Given the description of an element on the screen output the (x, y) to click on. 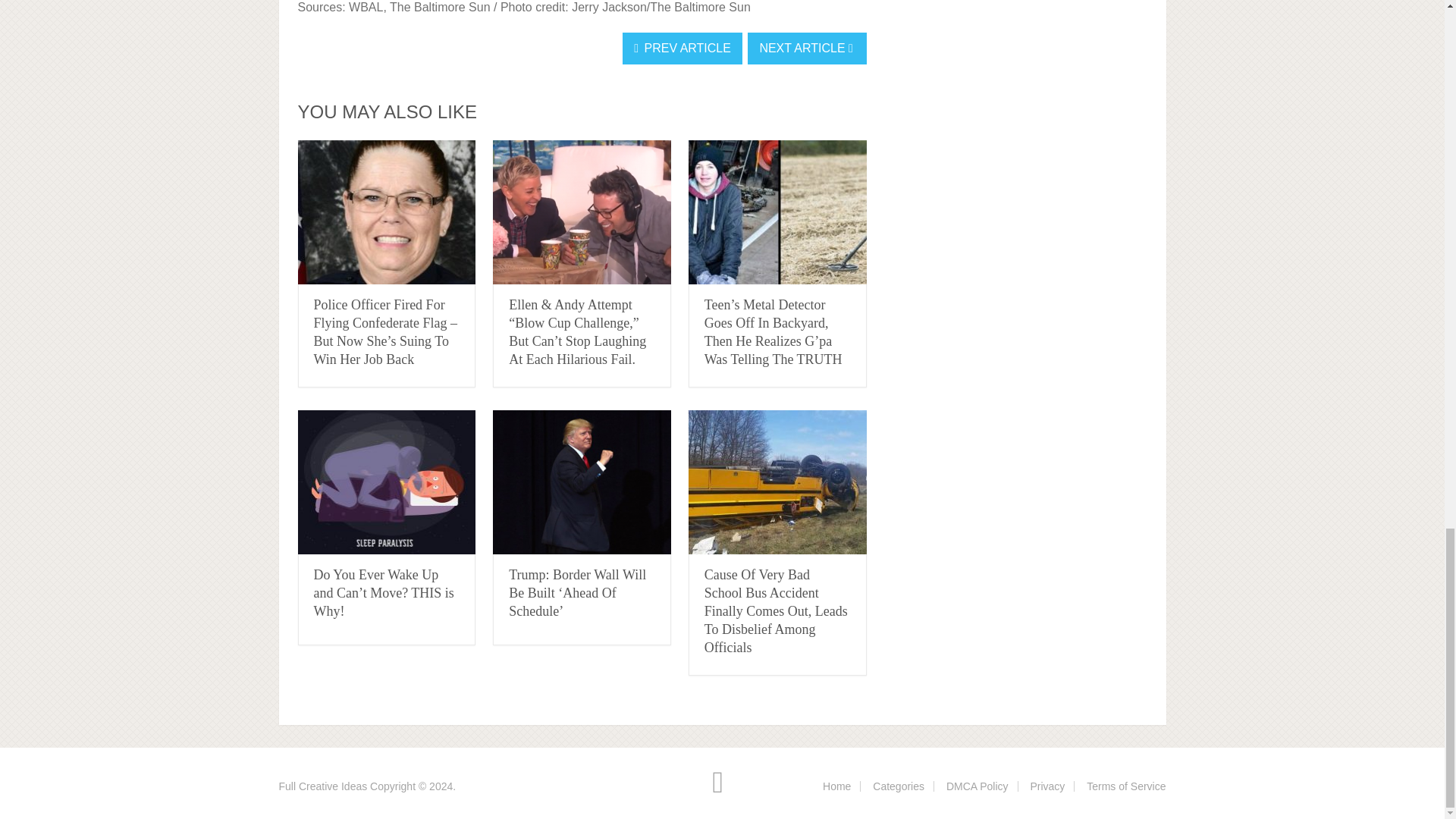
NEXT ARTICLE (807, 48)
Terms of Service (1126, 786)
Categories (898, 786)
Full Creative Ideas (323, 786)
PREV ARTICLE (682, 48)
Home (836, 786)
DMCA Policy (977, 786)
Privacy (1046, 786)
